Given the description of an element on the screen output the (x, y) to click on. 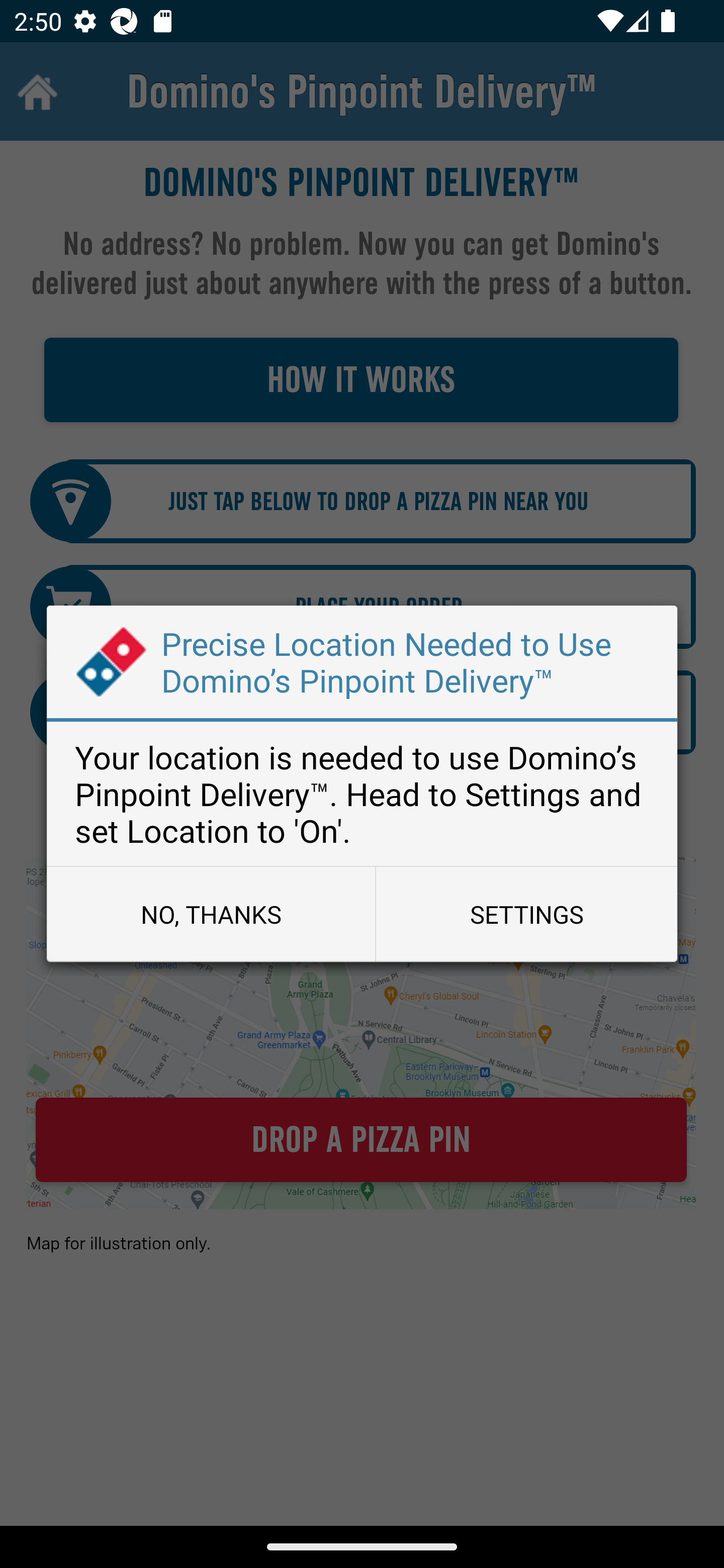
NO, THANKS (211, 914)
SETTINGS (525, 914)
